Given the description of an element on the screen output the (x, y) to click on. 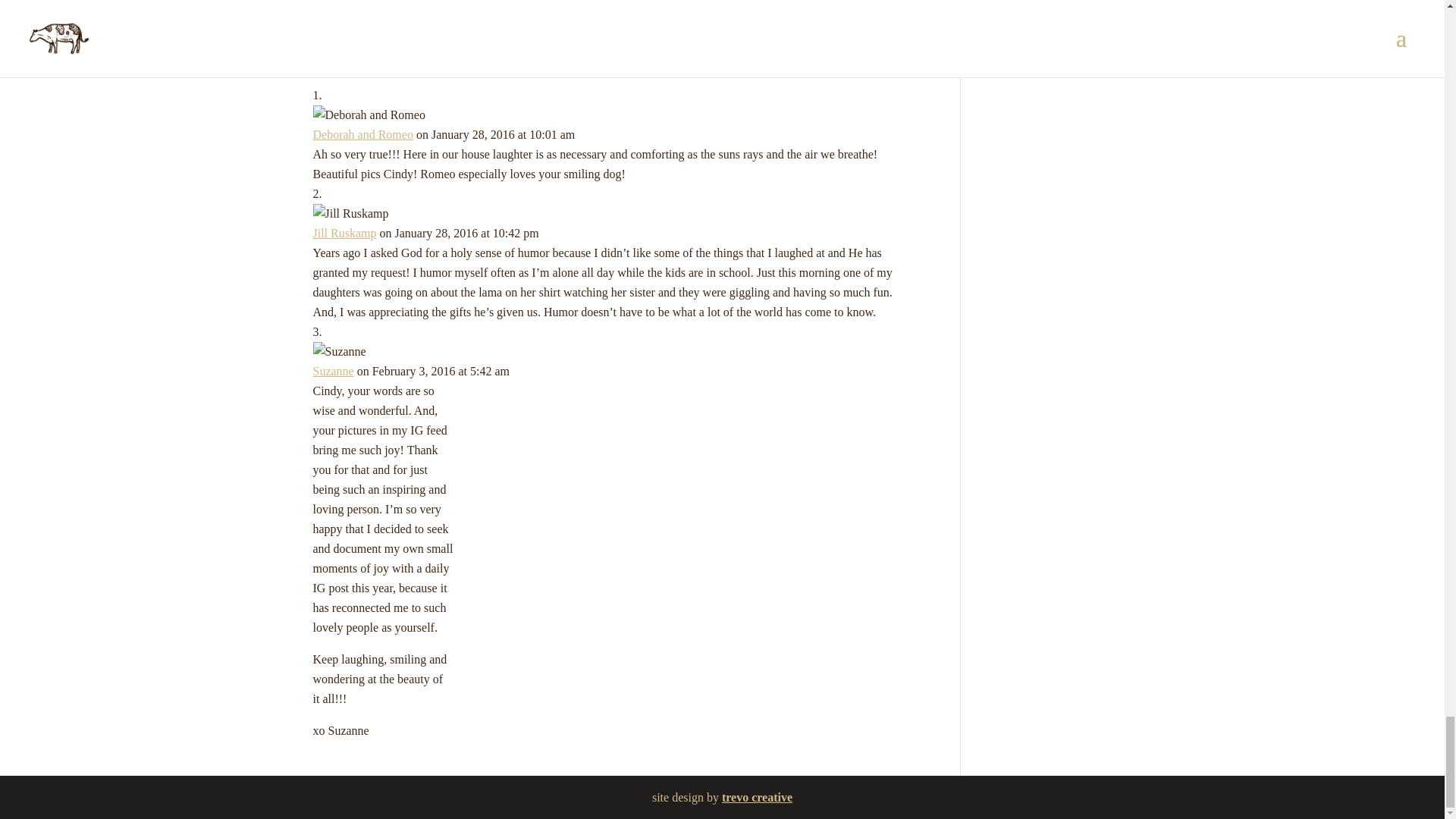
Deborah and Romeo (362, 133)
Suzanne (333, 370)
Jill Ruskamp (344, 232)
trevo creative (757, 797)
